Given the description of an element on the screen output the (x, y) to click on. 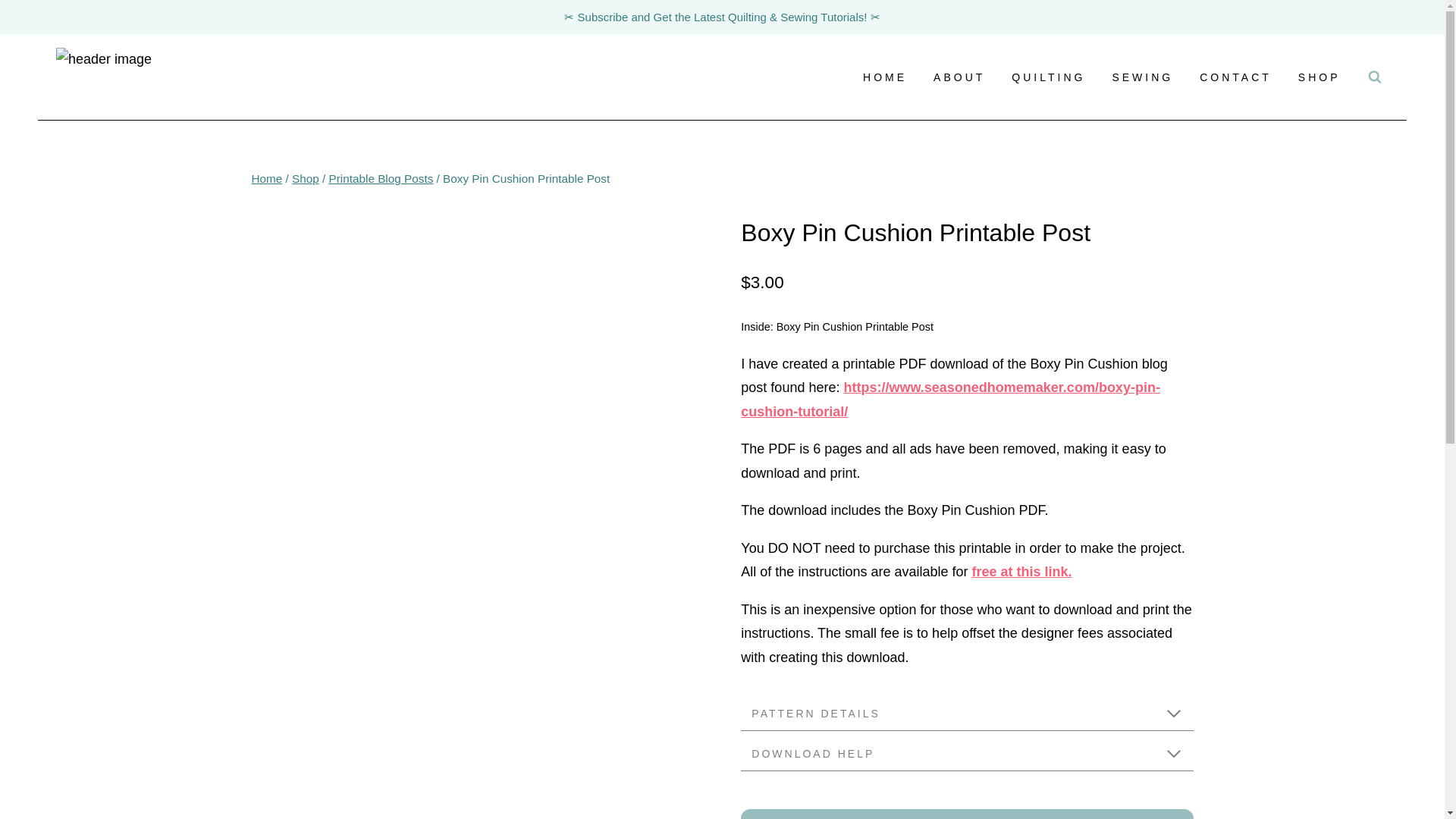
QUILTING (1048, 77)
PATTERN DETAILS (966, 713)
DOWNLOAD HELP (966, 754)
Printable Blog Posts (381, 178)
free at this link. (1021, 571)
Home (266, 178)
ABOUT (959, 77)
Shop (305, 178)
SEWING (1142, 77)
CONTACT (1235, 77)
ADD TO CART (966, 814)
